Given the description of an element on the screen output the (x, y) to click on. 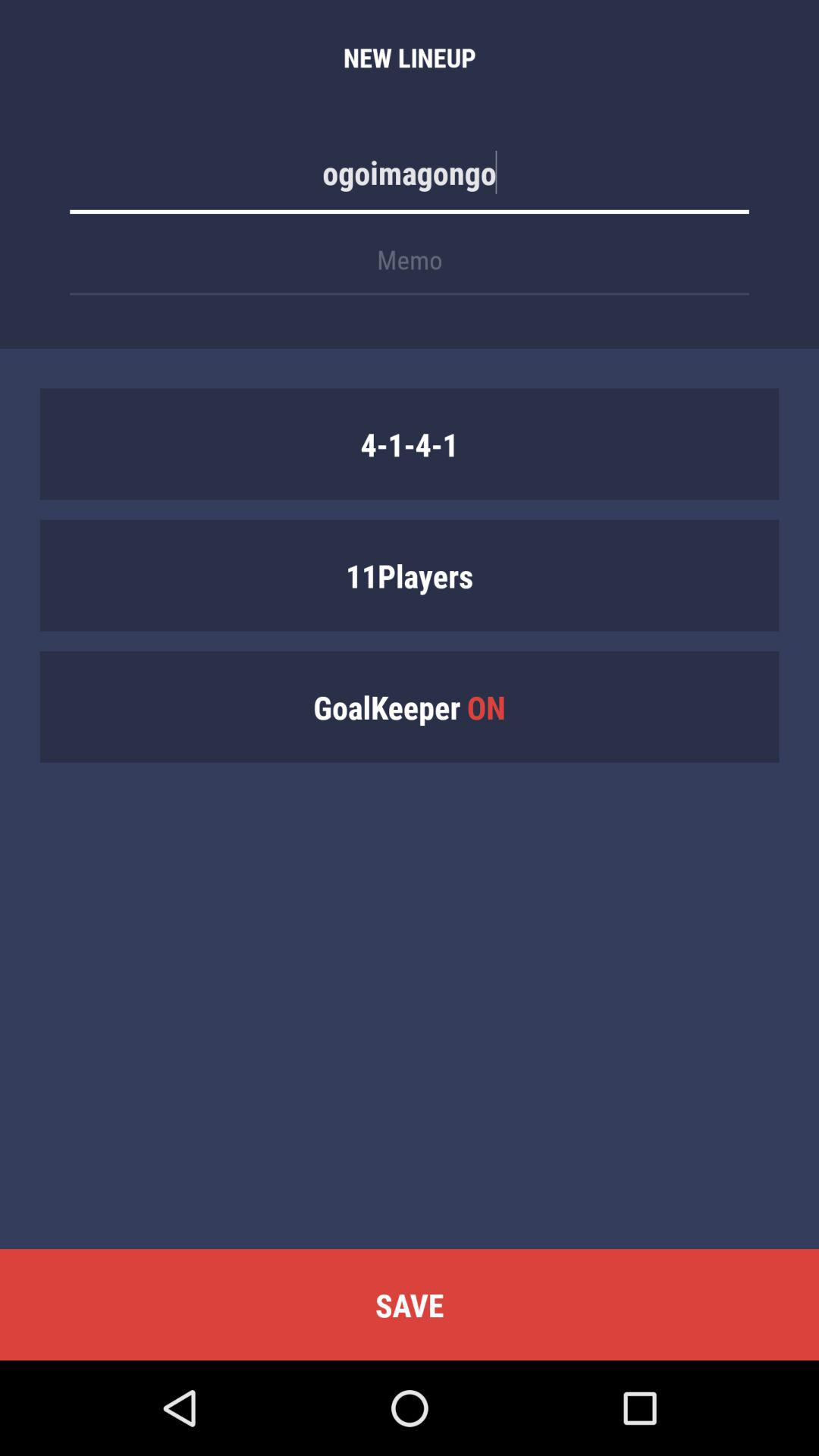
click the item above the 11players icon (409, 443)
